Given the description of an element on the screen output the (x, y) to click on. 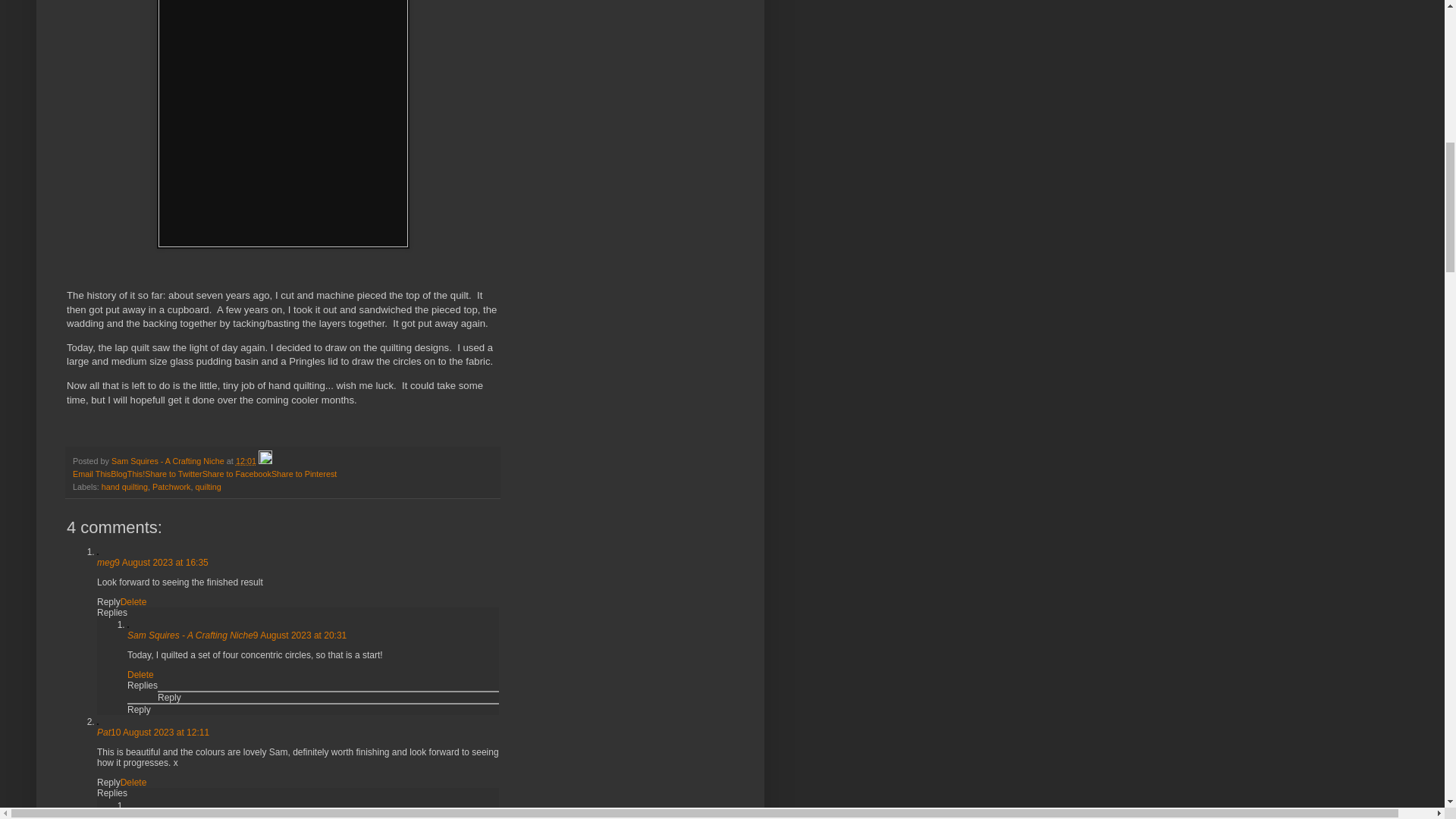
9 August 2023 at 16:35 (161, 561)
Replies (112, 792)
Share to Pinterest (303, 473)
BlogThis! (127, 473)
hand quilting (124, 486)
Patchwork (171, 486)
Edit Post (265, 461)
BlogThis! (127, 473)
Sam Squires - A Crafting Niche (169, 461)
permanent link (245, 461)
10 August 2023 at 13:50 (302, 815)
author profile (169, 461)
Share to Facebook (236, 473)
Delete (141, 674)
Replies (112, 611)
